Given the description of an element on the screen output the (x, y) to click on. 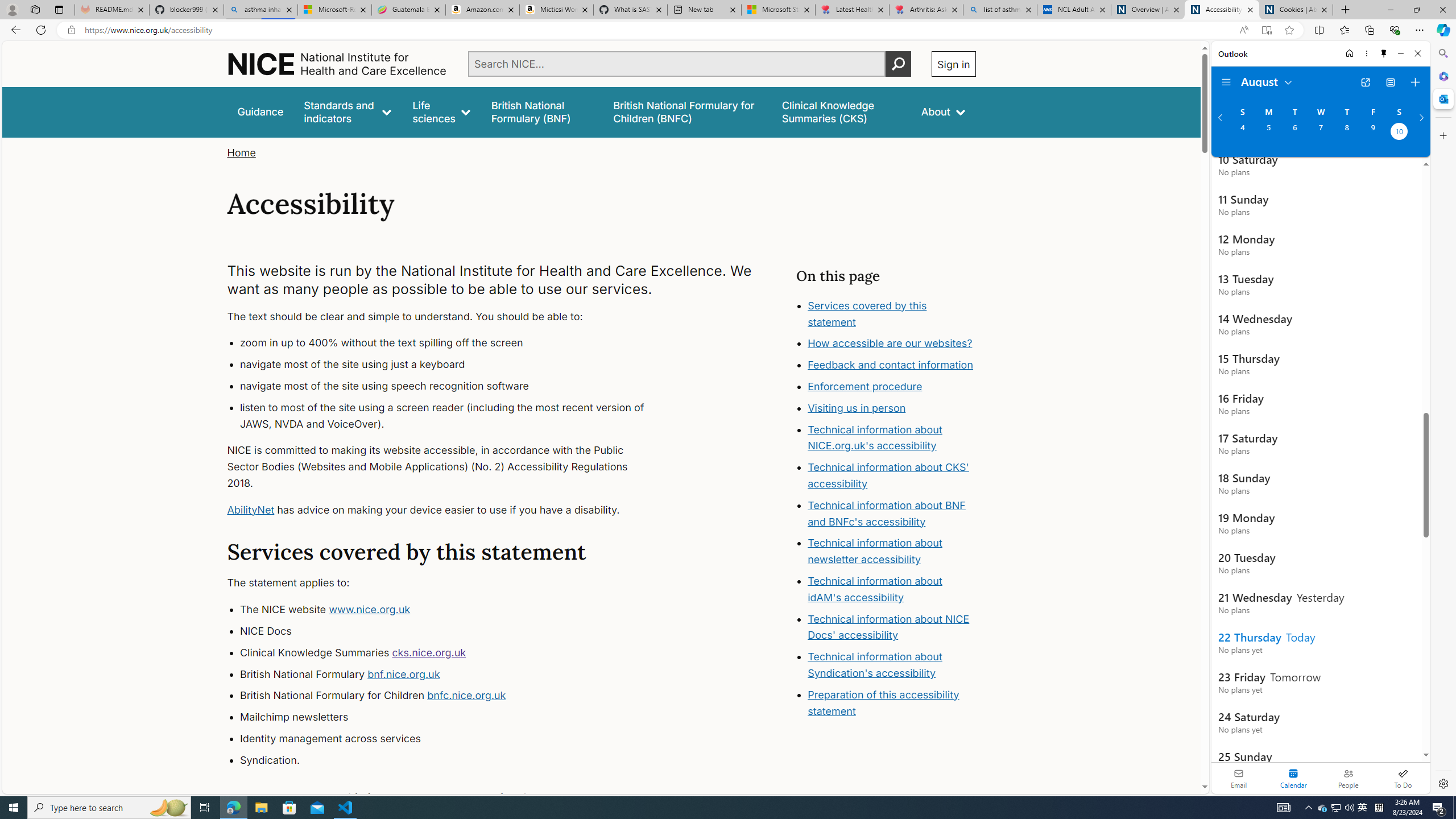
Thursday, August 8, 2024.  (1346, 132)
zoom in up to 400% without the text spilling off the screen (452, 343)
Technical information about BNF and BNFc's accessibility (886, 512)
Accessibility | NICE (1221, 9)
Unpin side pane (1383, 53)
Mailchimp newsletters (452, 717)
About (942, 111)
list of asthma inhalers uk - Search (1000, 9)
Arthritis: Ask Health Professionals (925, 9)
